Given the description of an element on the screen output the (x, y) to click on. 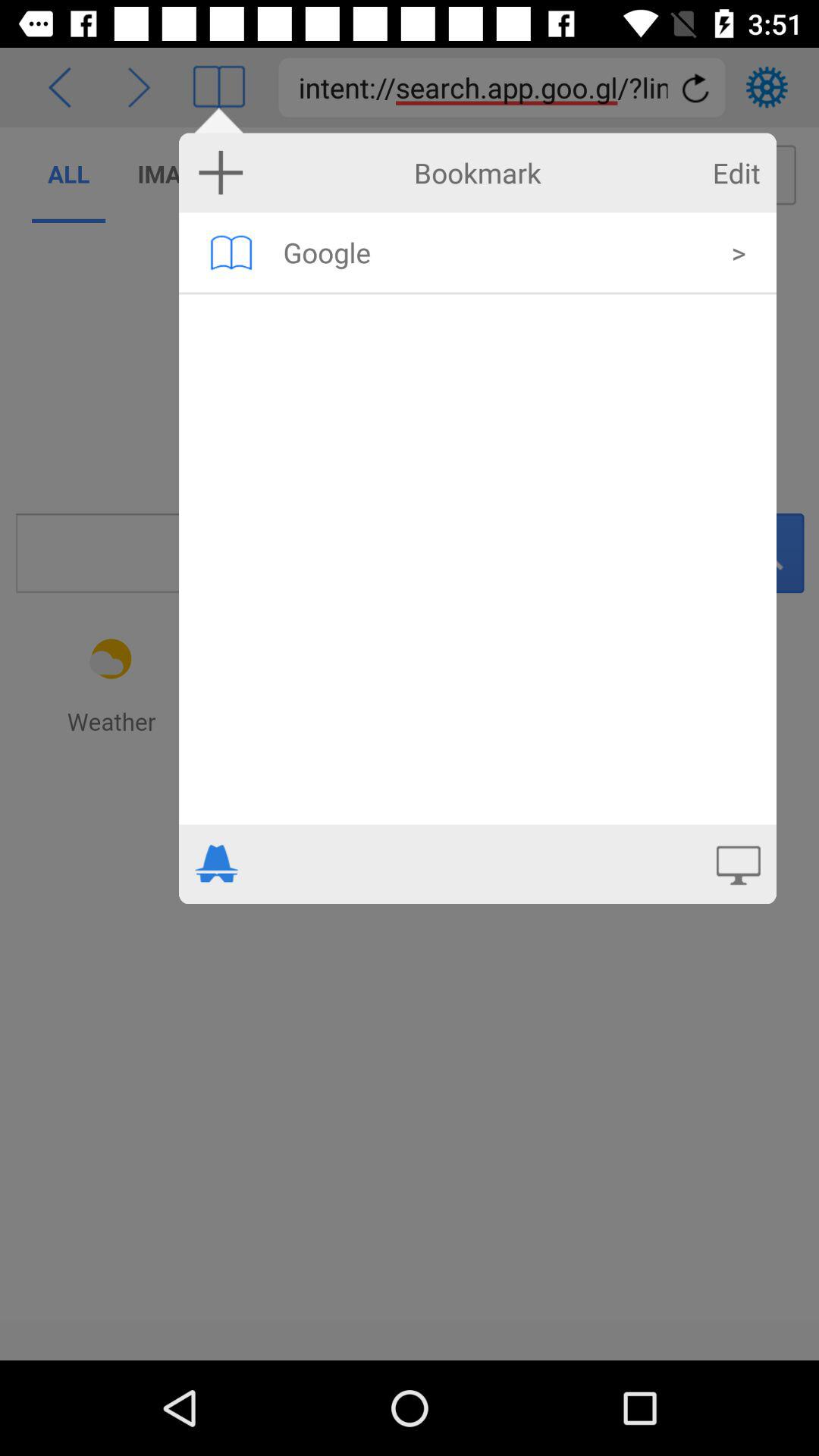
toggle private browsing (216, 864)
